Given the description of an element on the screen output the (x, y) to click on. 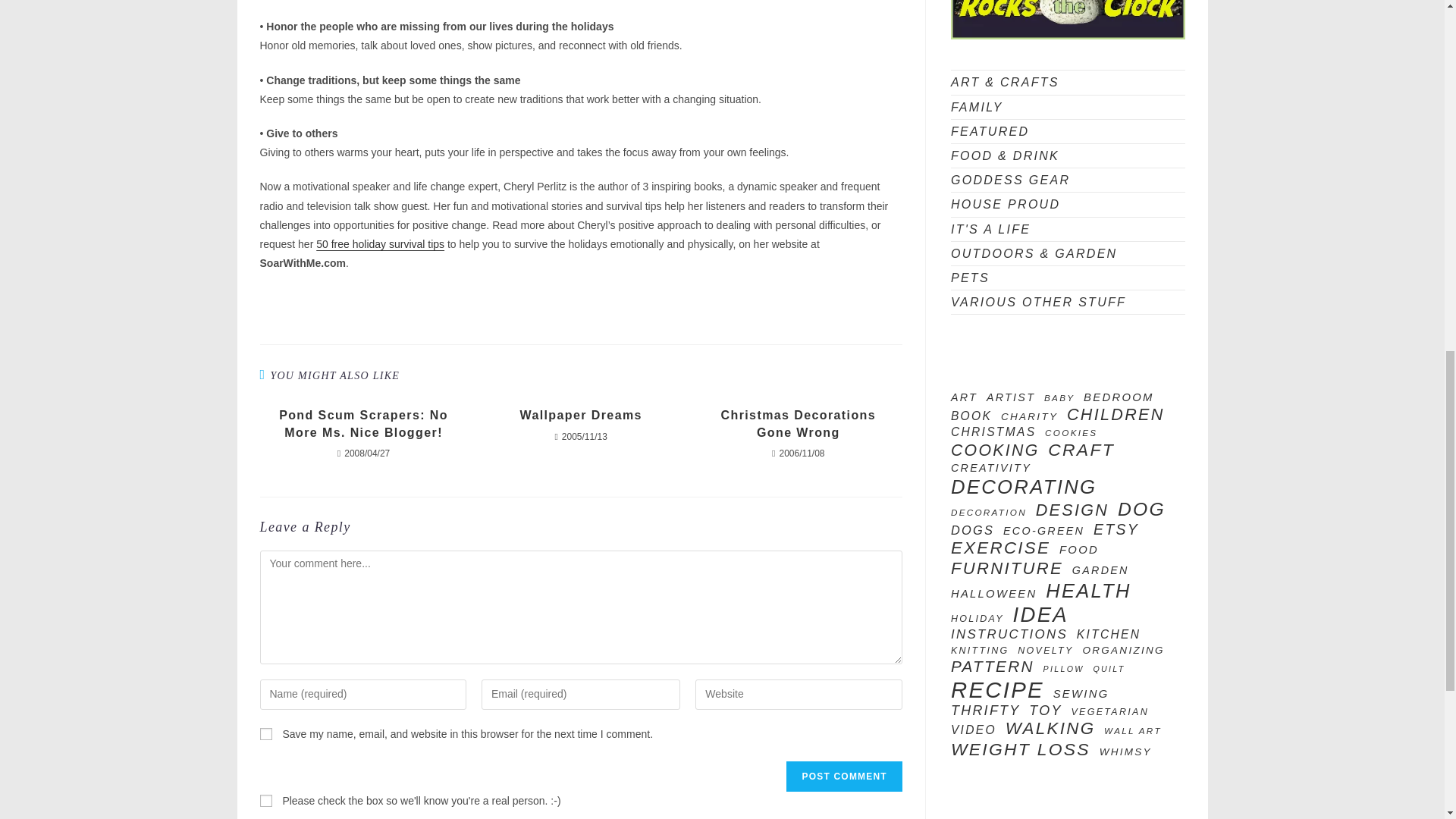
Wallpaper Dreams (580, 415)
Christmas Decorations Gone Wrong (798, 424)
Pond Scum Scrapers: No More Ms. Nice Blogger! (362, 424)
Post Comment (843, 776)
yes (264, 734)
50 free holiday survival tips (379, 244)
Post Comment (843, 776)
on (264, 800)
